Given the description of an element on the screen output the (x, y) to click on. 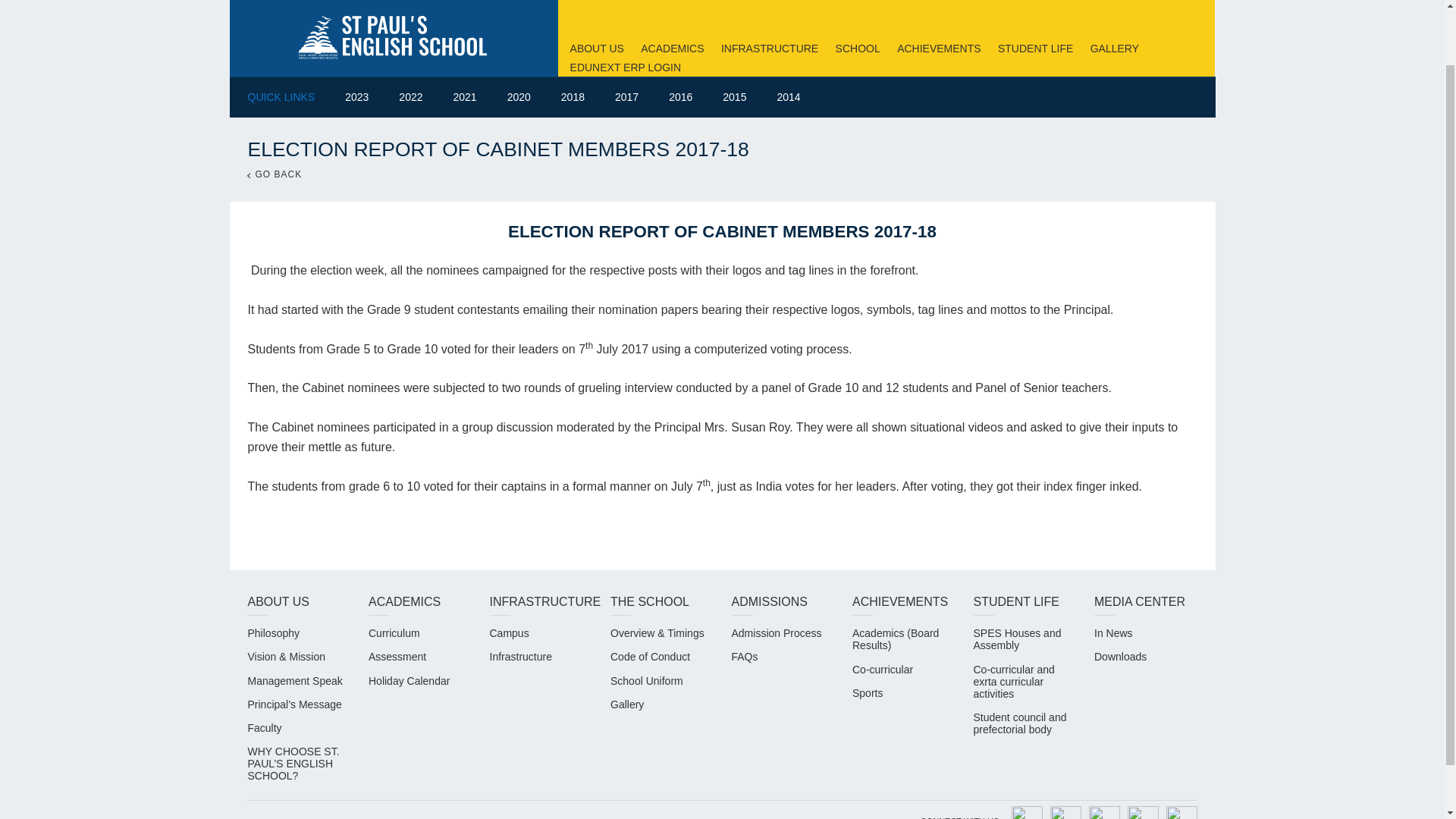
GALLERY (1114, 48)
ACADEMICS (671, 48)
ACHIEVEMENTS (937, 48)
STUDENT LIFE (1035, 48)
INFRASTRUCTURE (769, 48)
SCHOOL (857, 48)
ABOUT US (597, 48)
